Given the description of an element on the screen output the (x, y) to click on. 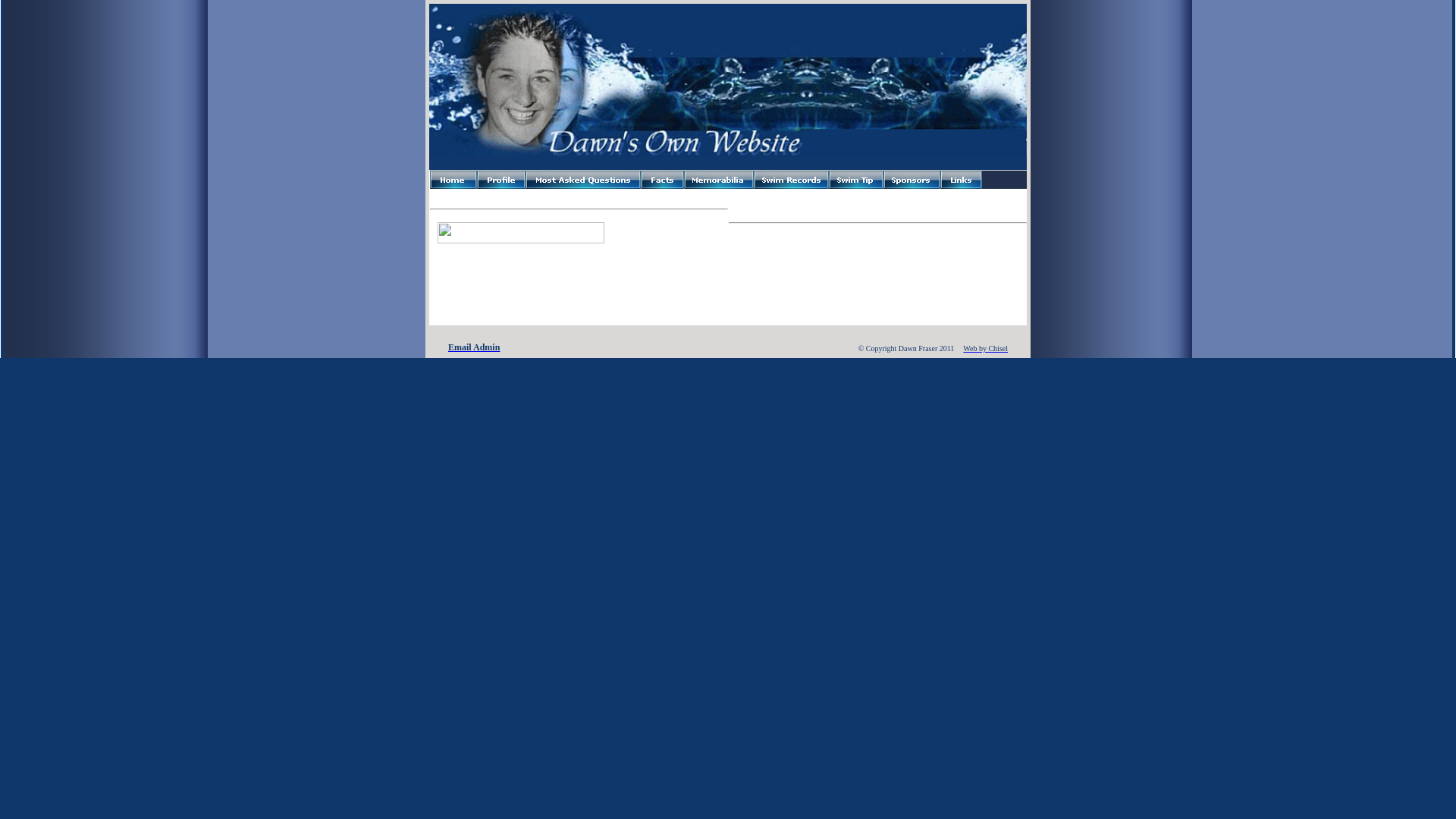
Fundraising Element type: hover (718, 179)
HOME Element type: hover (452, 179)
Email Admin Element type: text (473, 345)
Swim Records Element type: hover (790, 179)
THANK YOU TO MY SPONSORS Element type: hover (911, 179)
Web by Chisel Element type: text (985, 348)
Links Element type: hover (961, 179)
Answer to some of your questions. Element type: hover (582, 179)
Dawn's Profile Element type: hover (500, 179)
Facts about Dawn Element type: hover (662, 179)
SWIM TIP Element type: hover (855, 179)
